Given the description of an element on the screen output the (x, y) to click on. 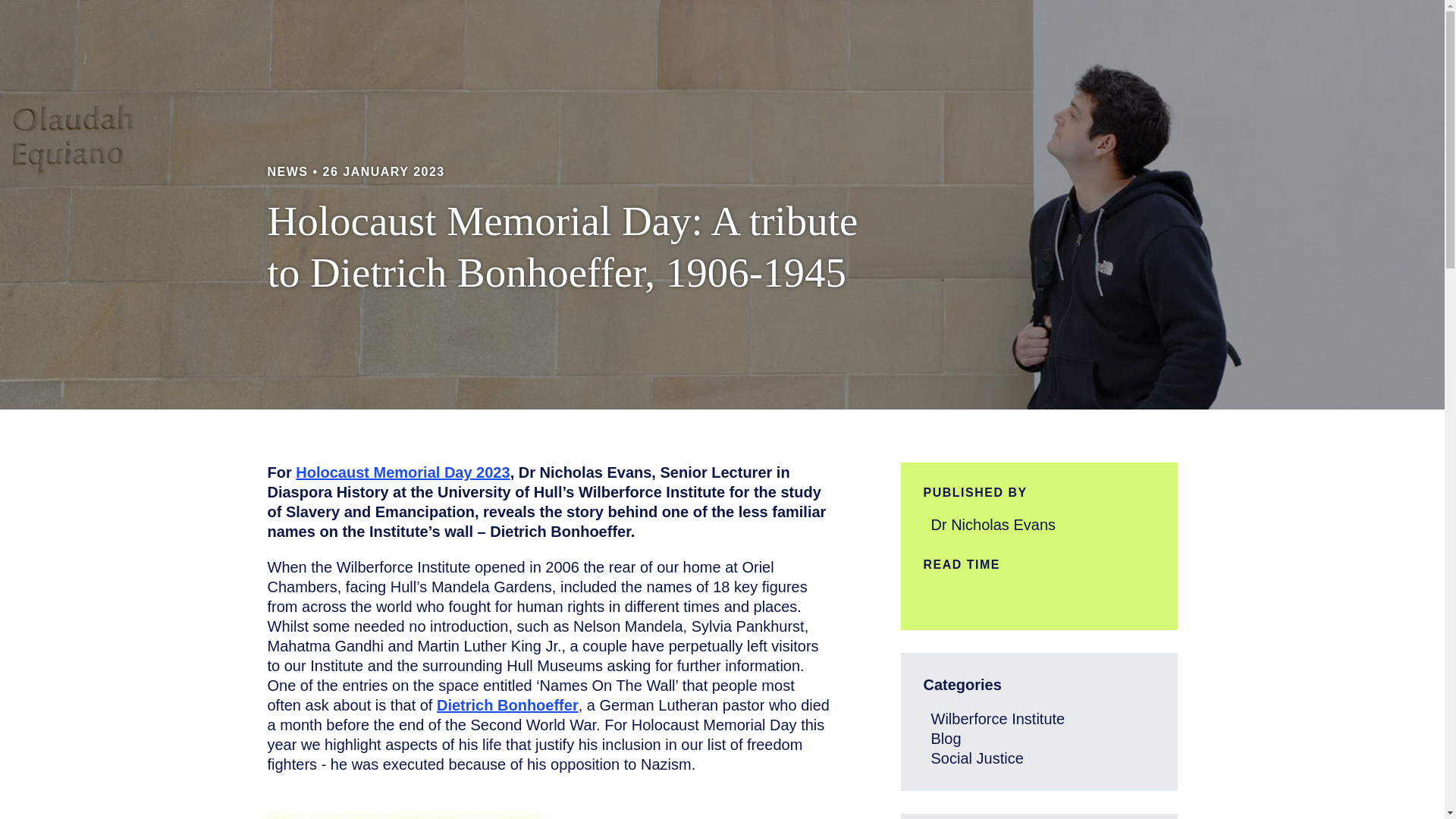
Blog (945, 738)
Dietrich Bonhoeffer (507, 704)
Holocaust Memorial Day 2023 (402, 472)
Wilberforce Institute (998, 718)
Social Justice (977, 758)
